Given the description of an element on the screen output the (x, y) to click on. 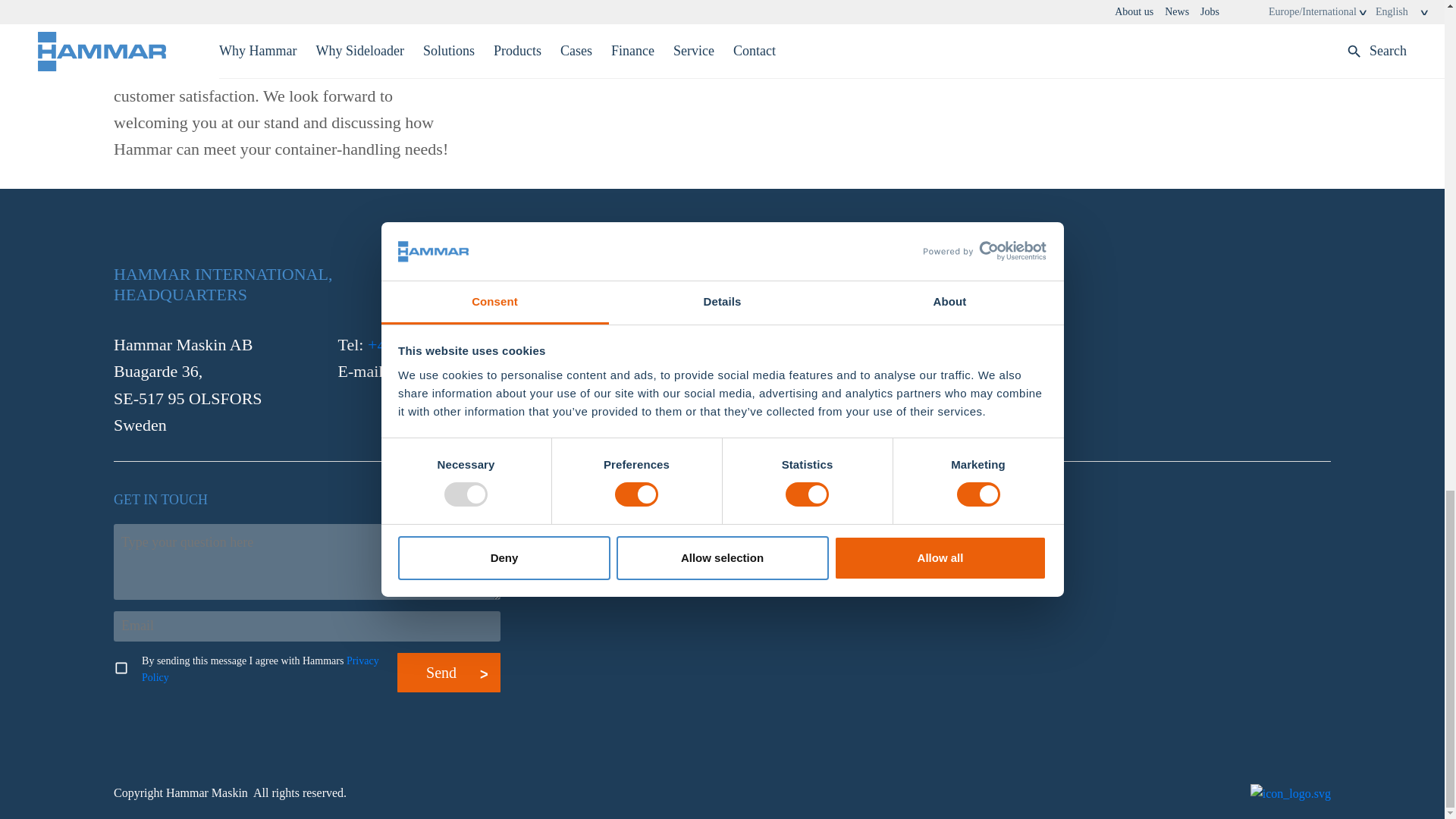
Send (448, 672)
